Given the description of an element on the screen output the (x, y) to click on. 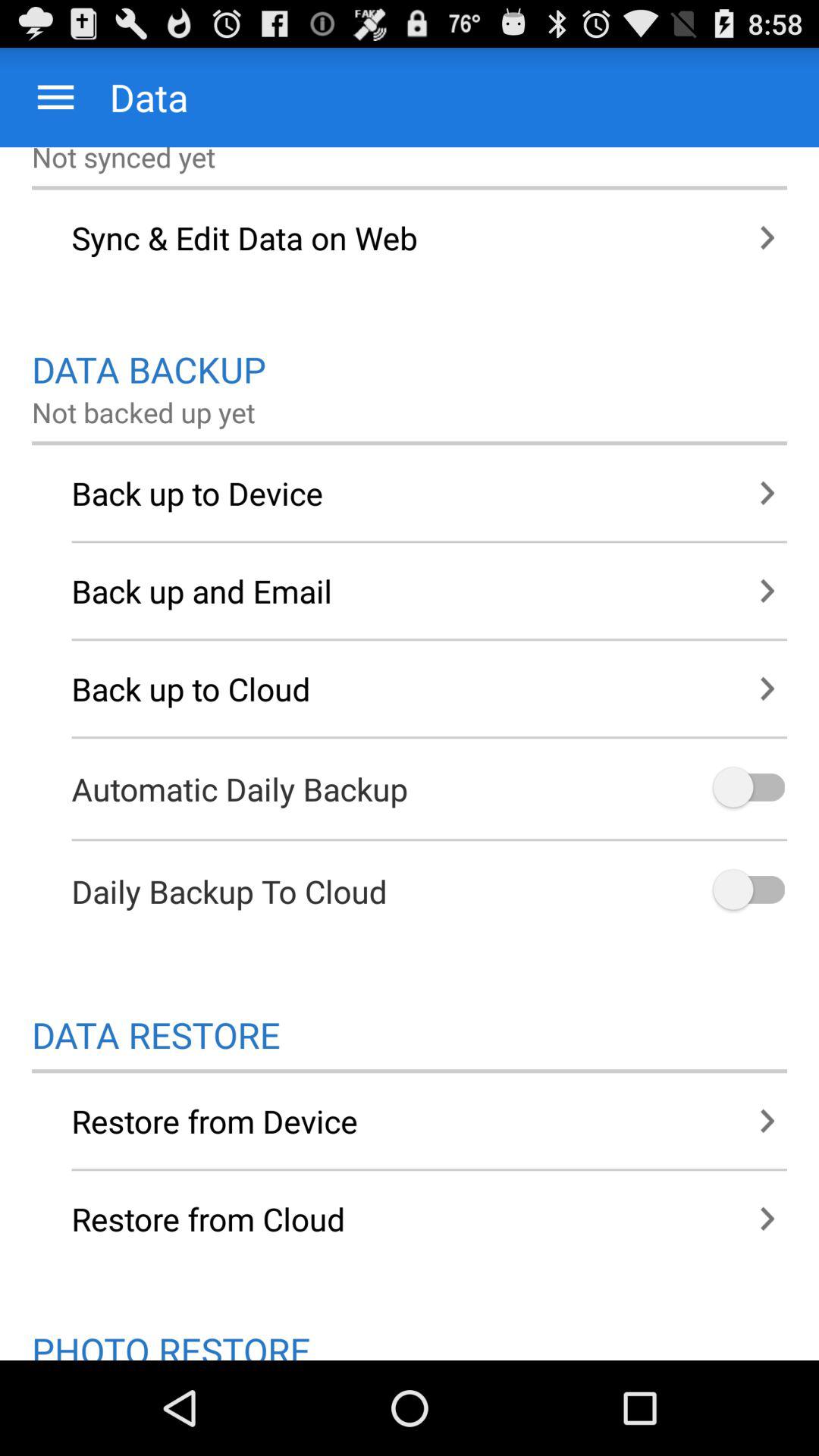
turn off the app to the left of data app (55, 97)
